Given the description of an element on the screen output the (x, y) to click on. 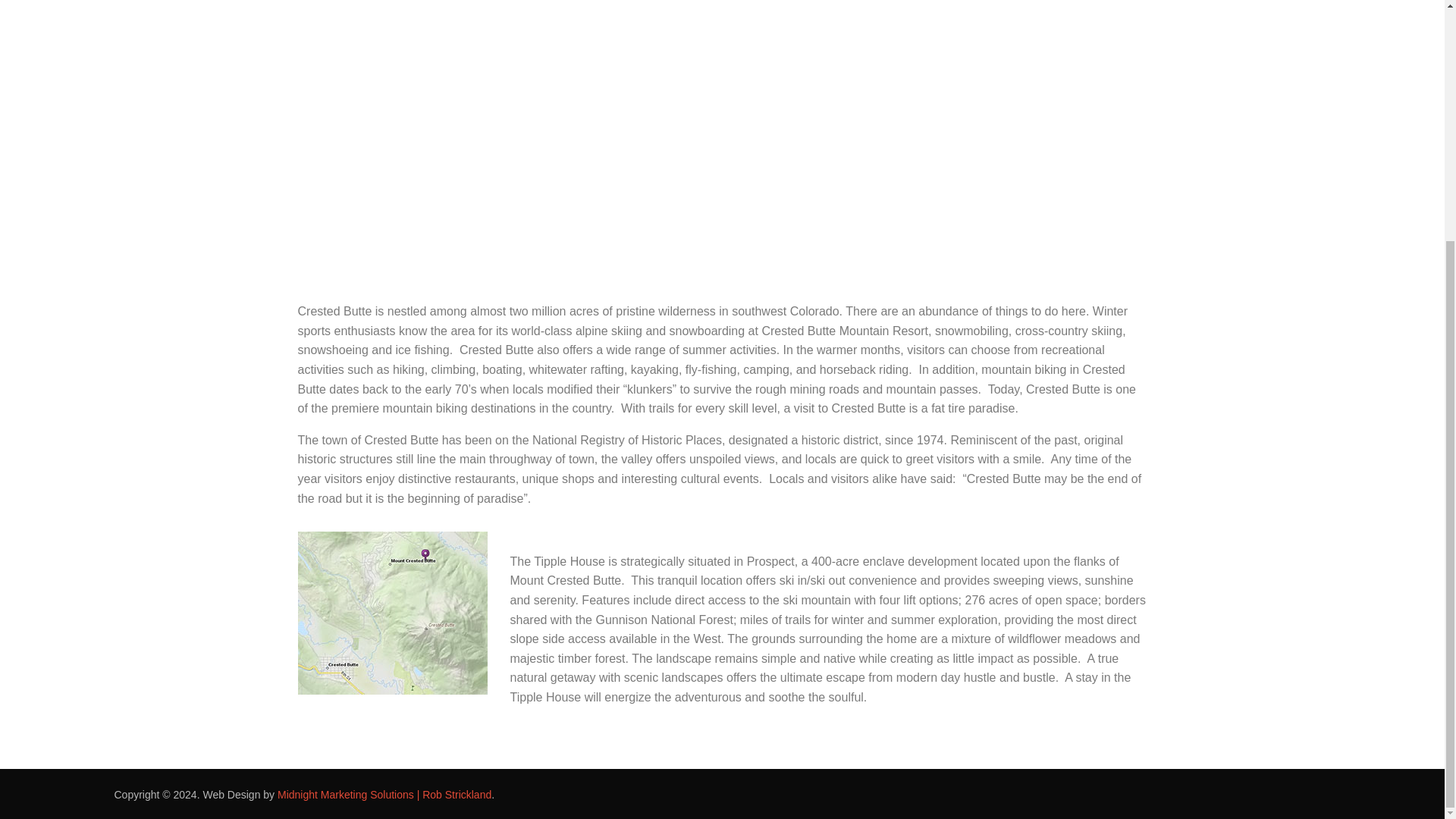
tipplemap (391, 612)
